Given the description of an element on the screen output the (x, y) to click on. 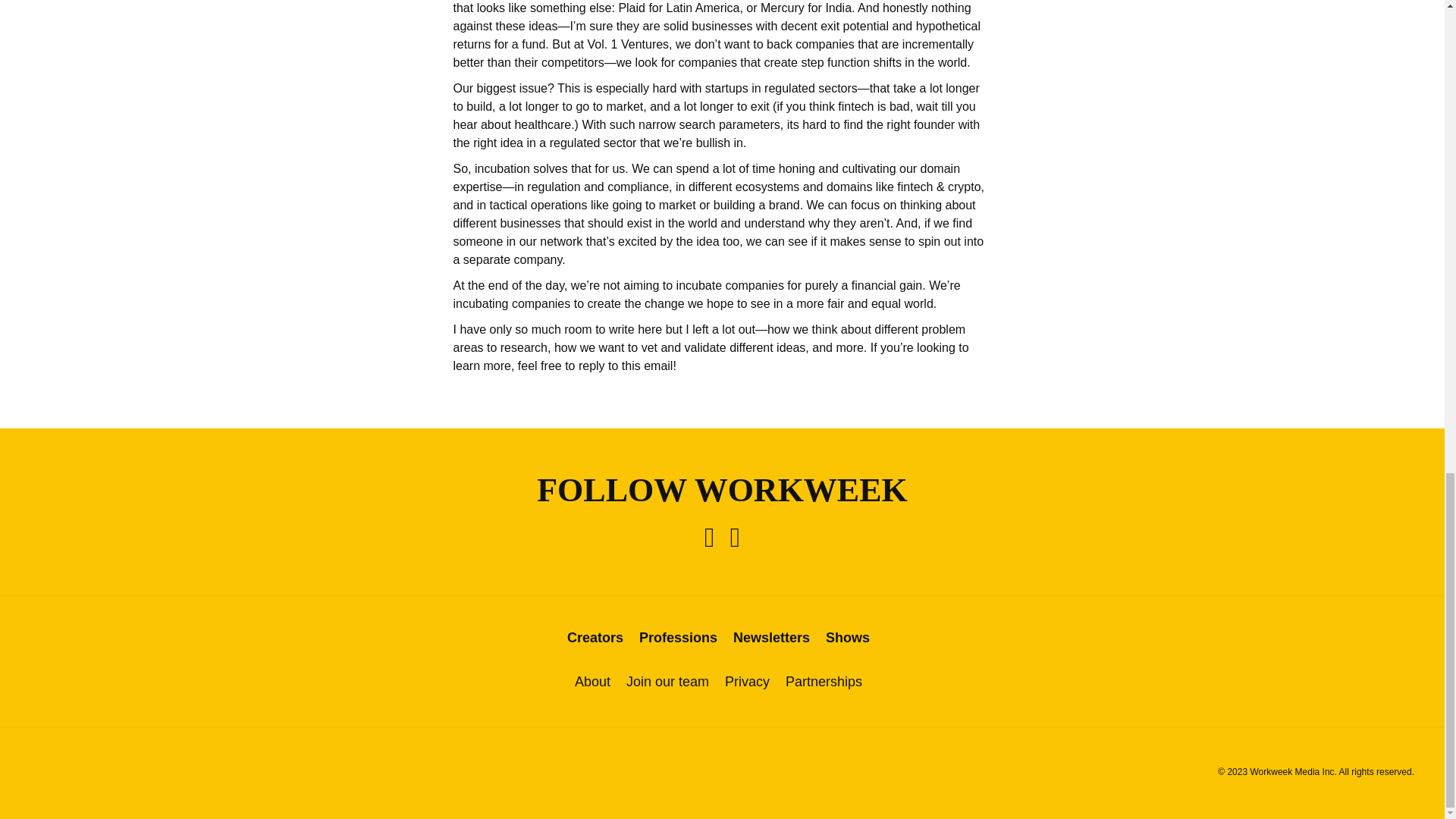
Creators (595, 637)
Professions (678, 637)
Partnerships (823, 681)
Newsletters (771, 637)
About (592, 681)
Join our team (667, 681)
Shows (847, 637)
Privacy (747, 681)
w-dark (722, 772)
